Given the description of an element on the screen output the (x, y) to click on. 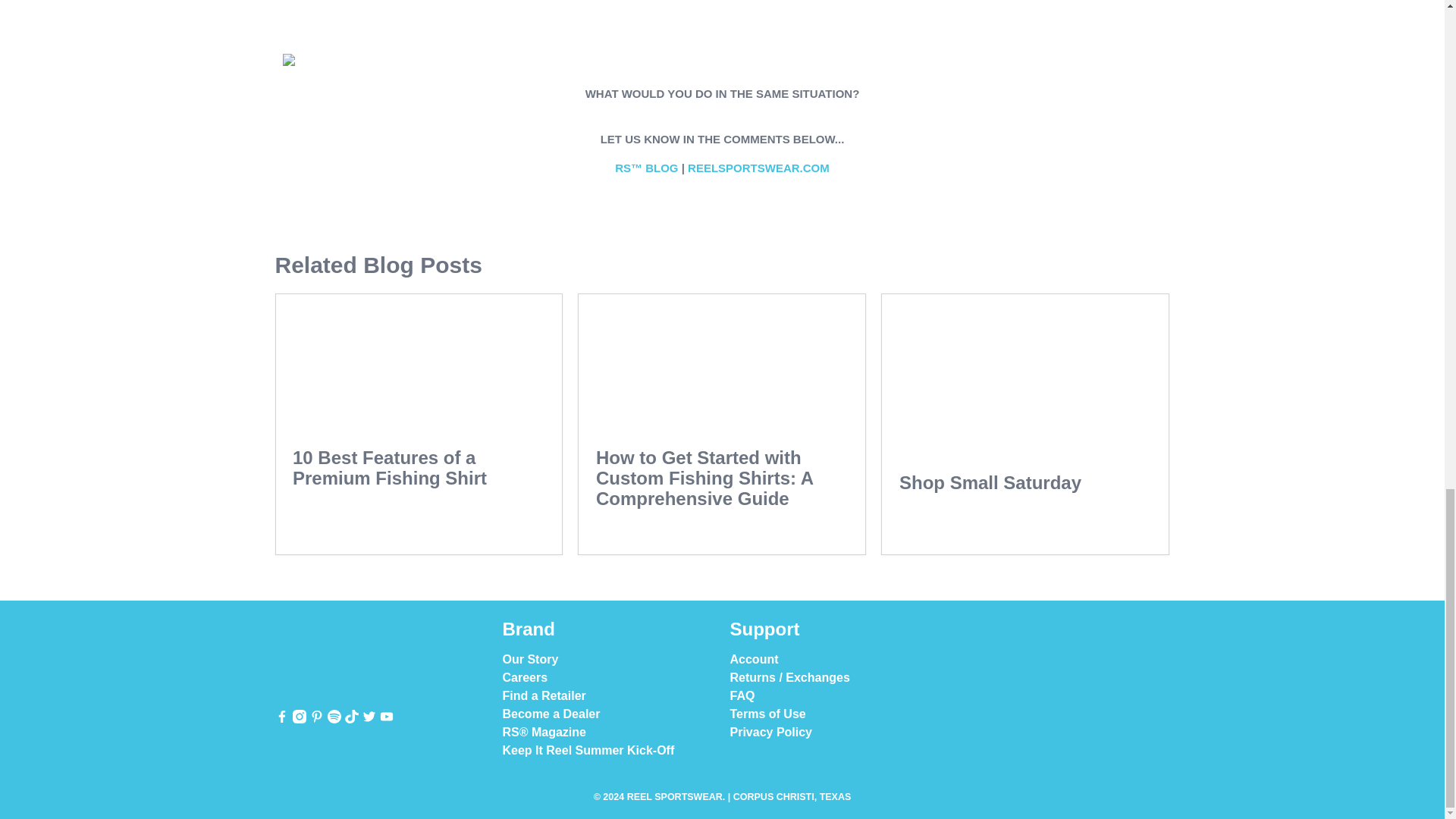
10 Best Features of a Premium Fishing Shirt (389, 467)
10 Best Features of a Premium Fishing Shirt (419, 361)
Shop Small Saturday (1025, 374)
